Given the description of an element on the screen output the (x, y) to click on. 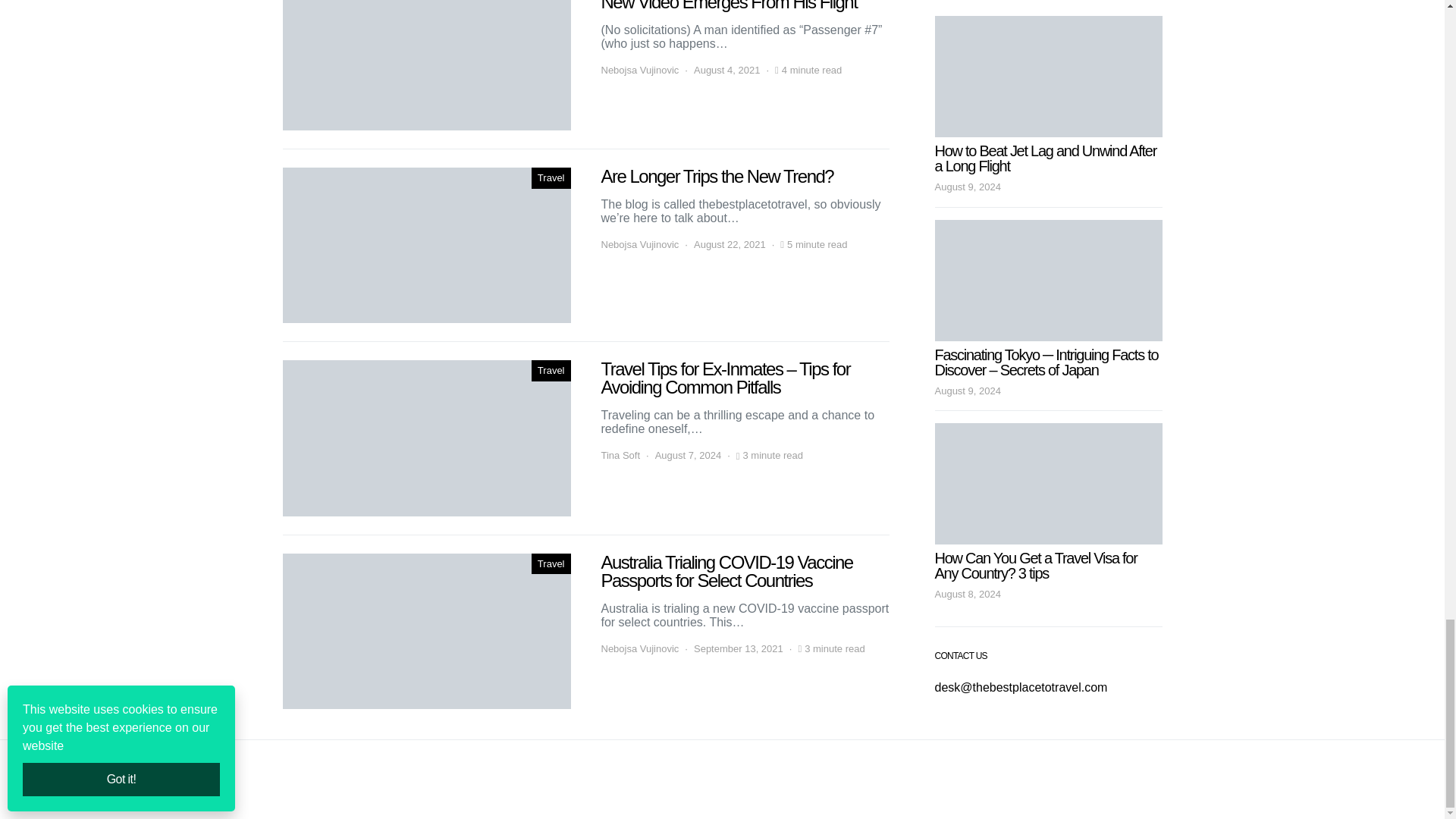
View all posts by Nebojsa Vujinovic (638, 70)
View all posts by Tina Soft (619, 455)
View all posts by Nebojsa Vujinovic (638, 244)
View all posts by Nebojsa Vujinovic (638, 648)
Travel (550, 178)
Nebojsa Vujinovic (638, 244)
Nebojsa Vujinovic (638, 70)
Tina Soft (619, 455)
Travel (550, 370)
